Given the description of an element on the screen output the (x, y) to click on. 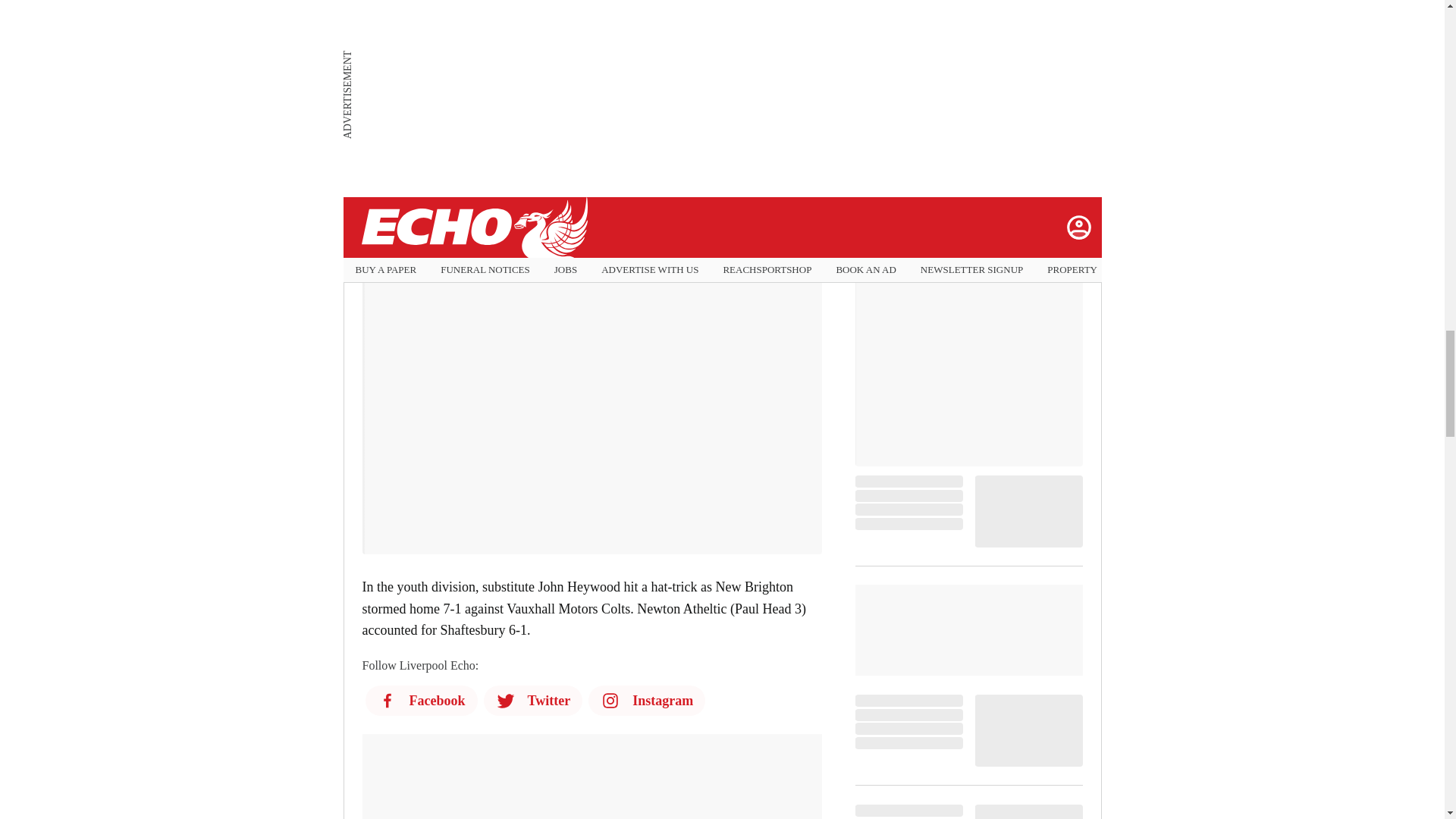
Instagram (646, 700)
Twitter (533, 700)
Facebook (421, 700)
